Given the description of an element on the screen output the (x, y) to click on. 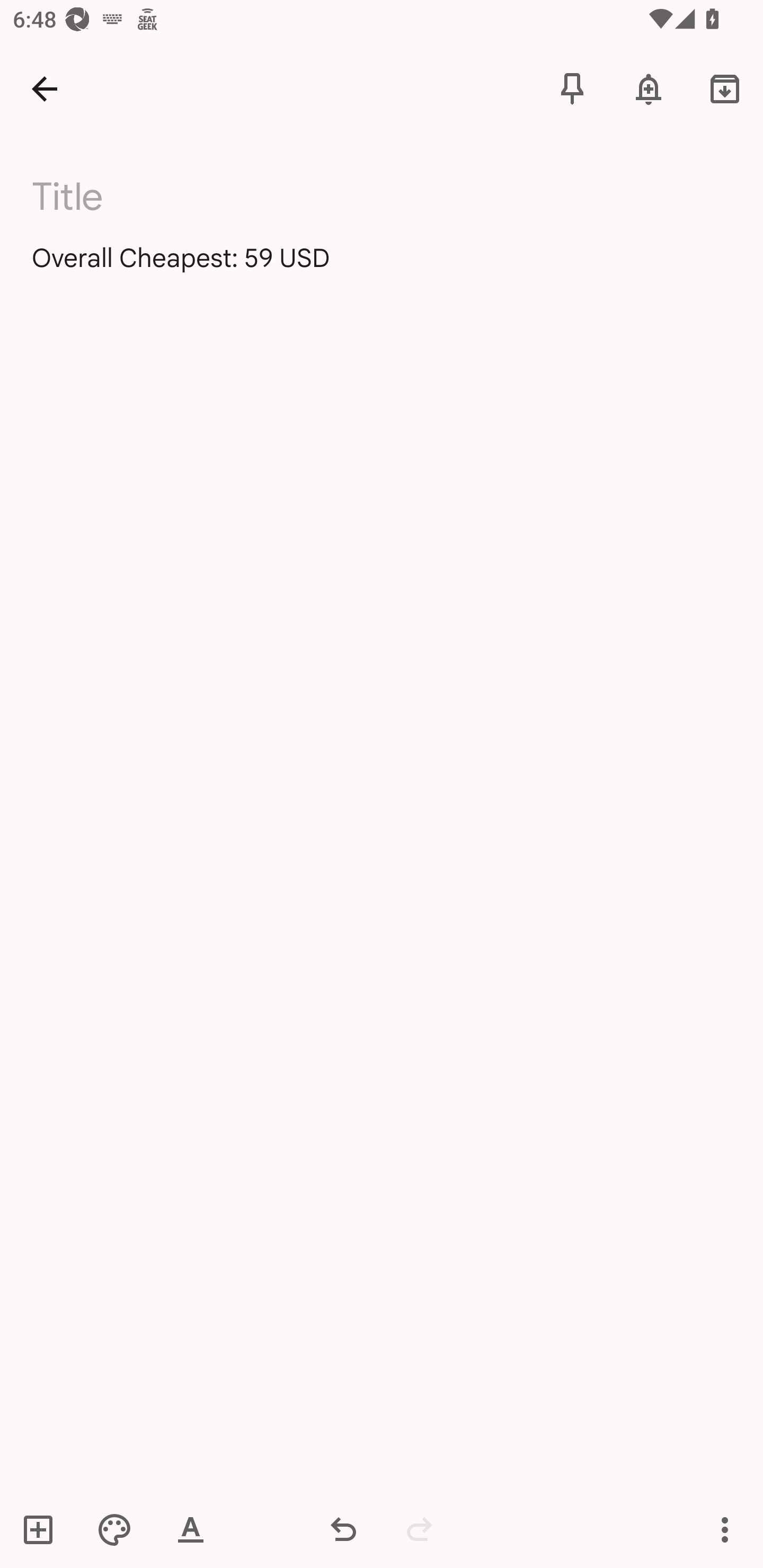
Navigate up (44, 88)
Pin (572, 88)
Reminder (648, 88)
Archive (724, 88)
Title (392, 196)
Overall Cheapest: 59 USD
 (381, 273)
New list (44, 1529)
Theme (114, 1529)
Show formatting controls (190, 1529)
Undo (343, 1529)
Redo (419, 1529)
Action (724, 1529)
